Given the description of an element on the screen output the (x, y) to click on. 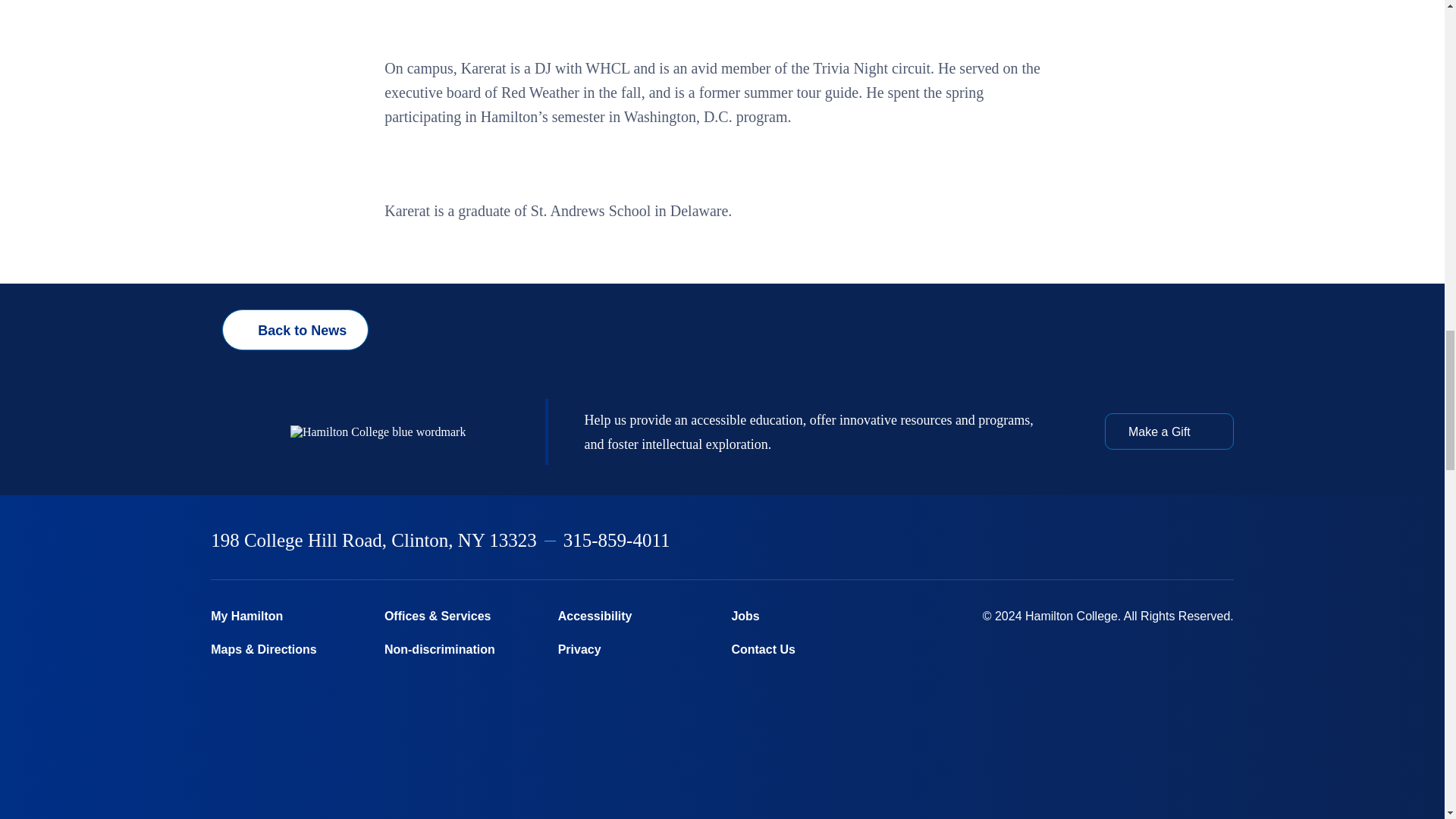
Non-discrimination (461, 650)
Linkedin (1149, 540)
Make a Gift (1169, 431)
198 College Hill Road, Clinton, NY 13323 (373, 540)
TikTok (1226, 540)
315-859-4011 (617, 540)
Back to News (295, 329)
Twitter (1069, 540)
Facebook (1029, 540)
My Hamilton (288, 616)
